Given the description of an element on the screen output the (x, y) to click on. 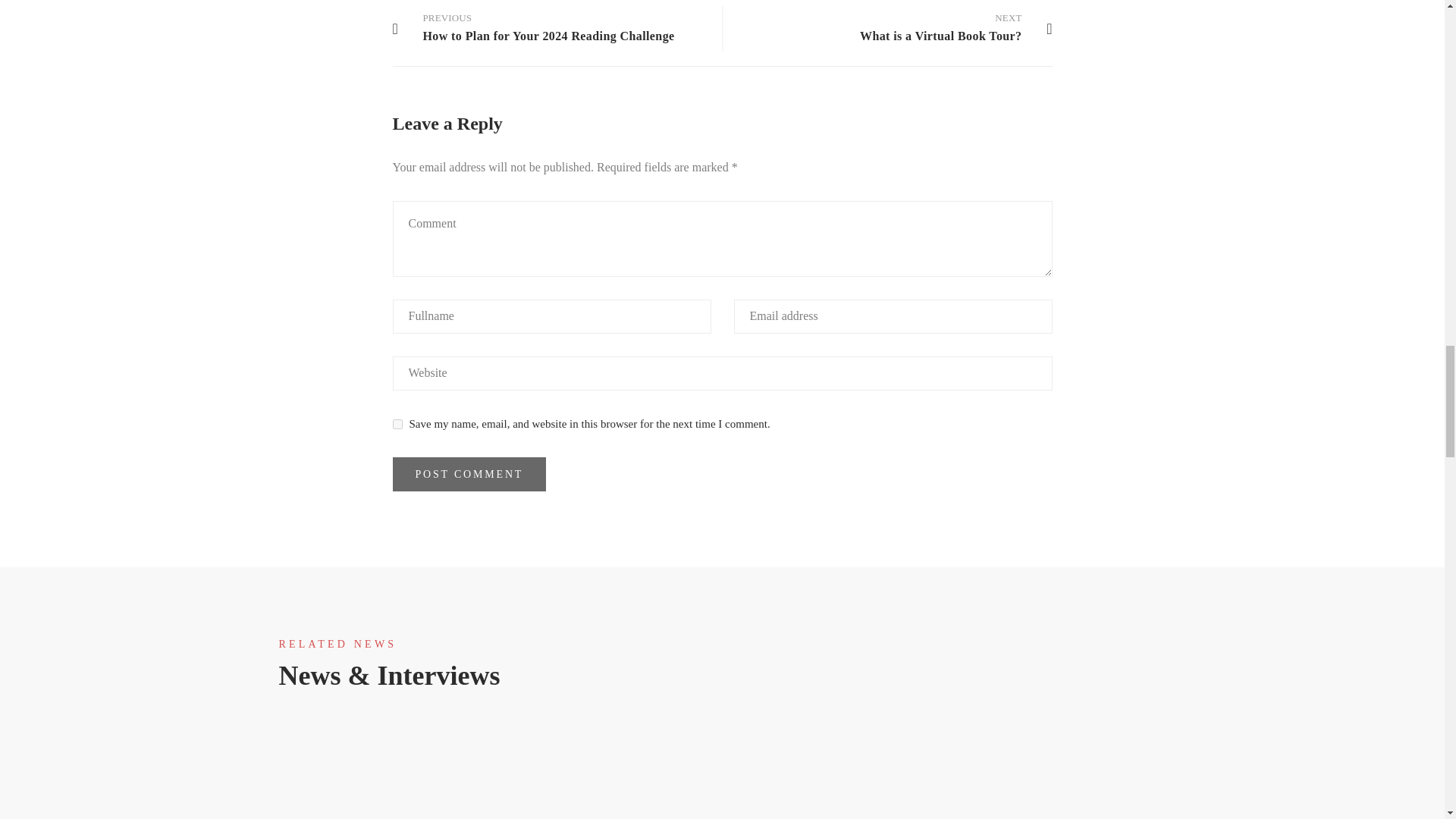
yes (398, 424)
Post Comment (880, 28)
Post Comment (470, 474)
